Given the description of an element on the screen output the (x, y) to click on. 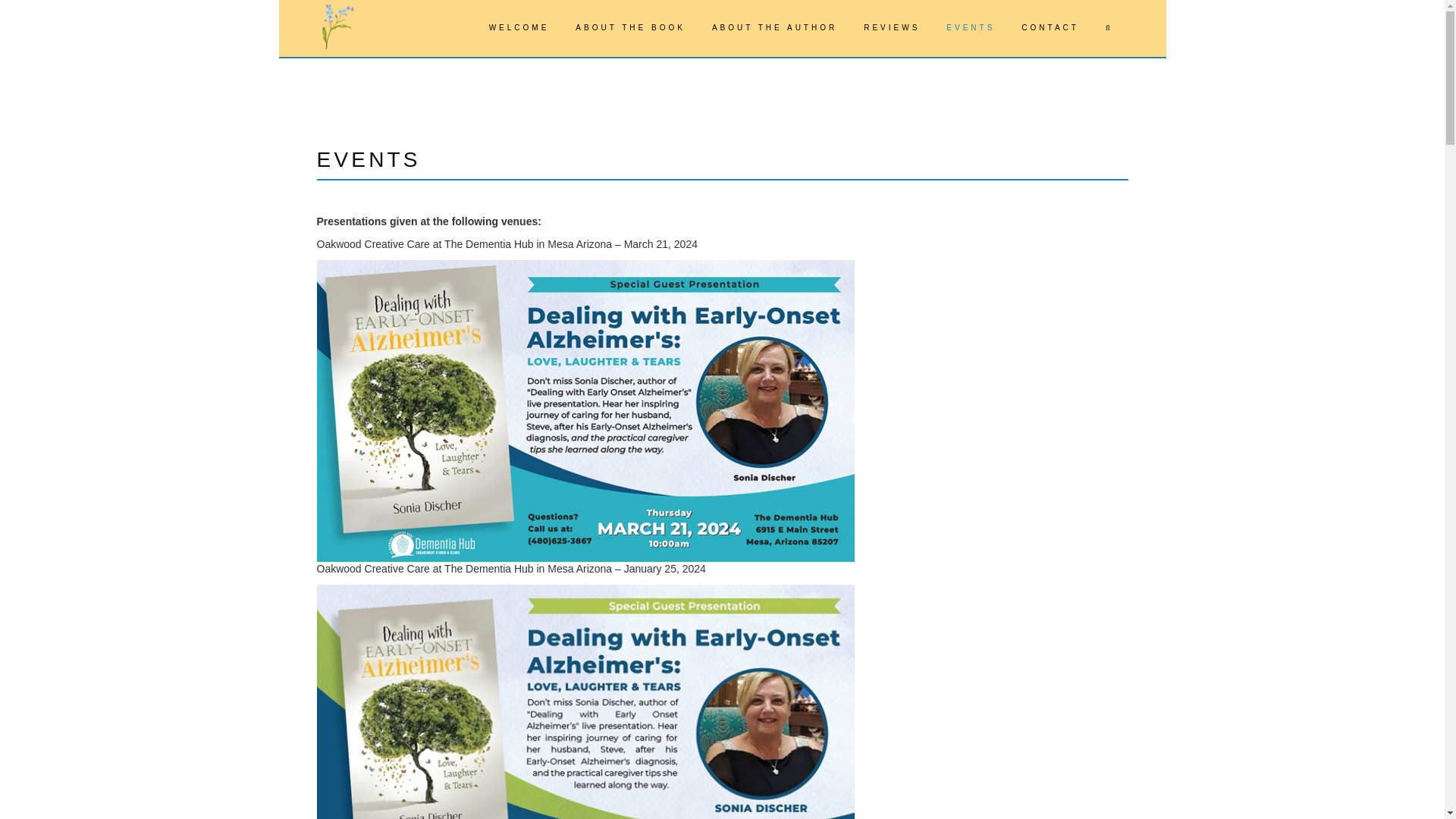
CONTACT (1047, 28)
WELCOME (517, 28)
REVIEWS (890, 28)
EVENTS (968, 28)
ABOUT THE AUTHOR (772, 28)
ABOUT THE BOOK (628, 28)
